Given the description of an element on the screen output the (x, y) to click on. 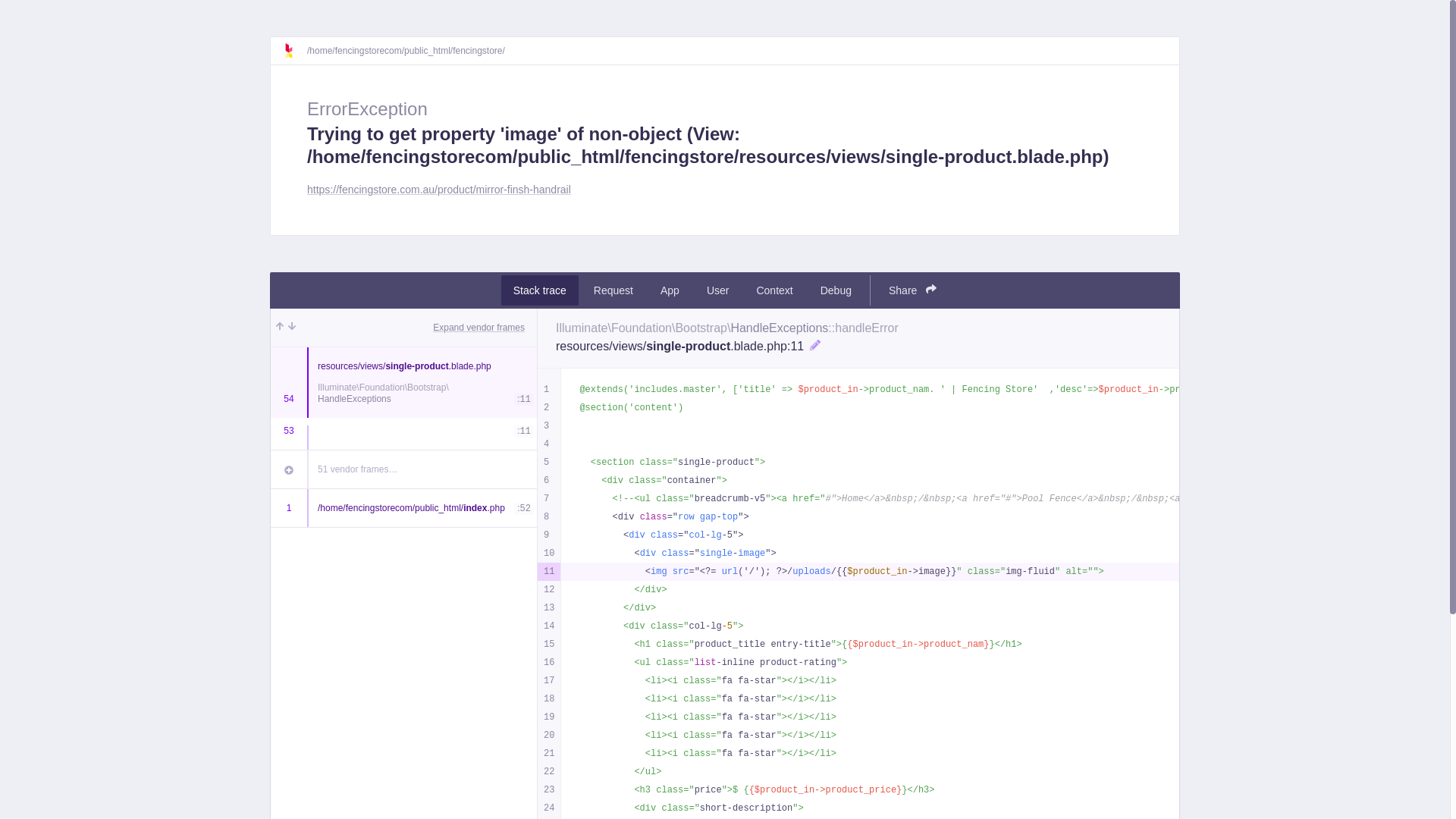
Frame down (Key:J) Element type: hover (291, 327)
Ignition docs Element type: hover (294, 50)
App Element type: text (669, 290)
Stack trace Element type: text (539, 290)
Request Element type: text (613, 290)
https://fencingstore.com.au/product/mirror-finsh-handrail Element type: text (439, 190)
Debug Element type: text (835, 290)
Expand vendor frames Element type: text (478, 327)
Share Element type: text (912, 290)
User Element type: text (717, 290)
Frame up (Key:K) Element type: hover (279, 327)
Context Element type: text (773, 290)
